Given the description of an element on the screen output the (x, y) to click on. 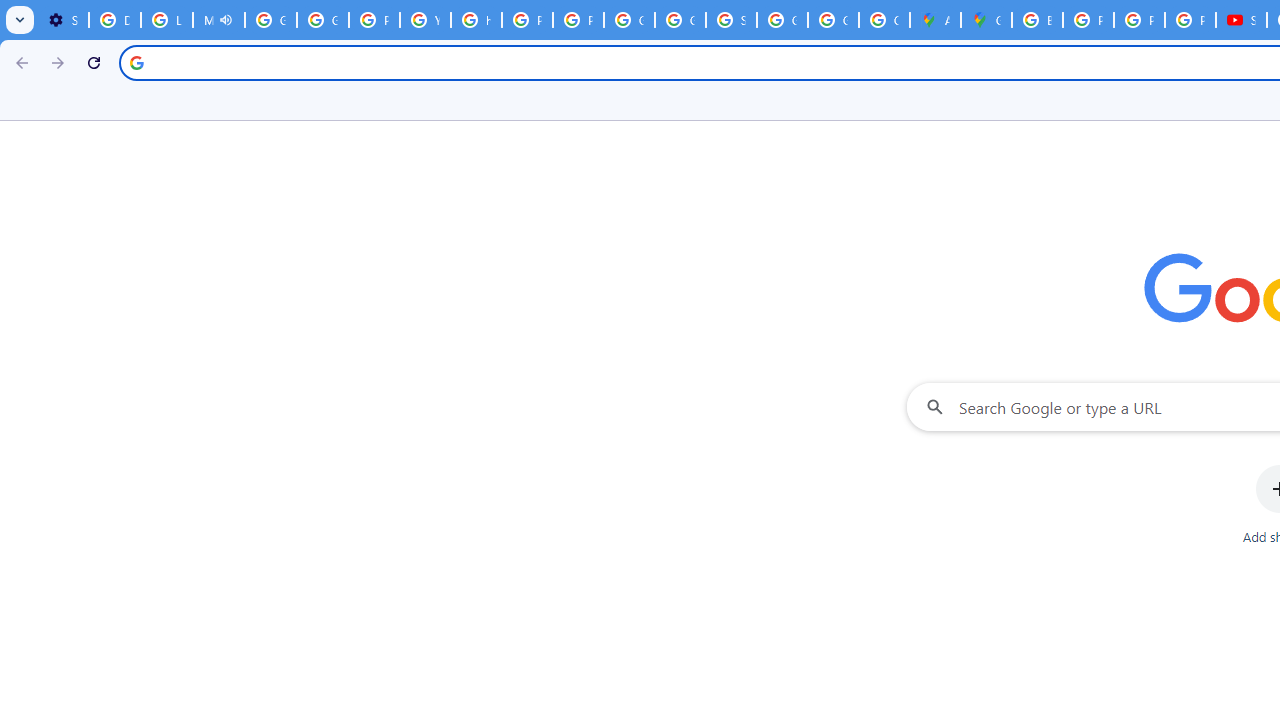
Privacy Help Center - Policies Help (374, 20)
Google Account Help (270, 20)
YouTube (424, 20)
Blogger Policies and Guidelines - Transparency Center (1037, 20)
Privacy Help Center - Policies Help (1138, 20)
Subscriptions - YouTube (1241, 20)
